Given the description of an element on the screen output the (x, y) to click on. 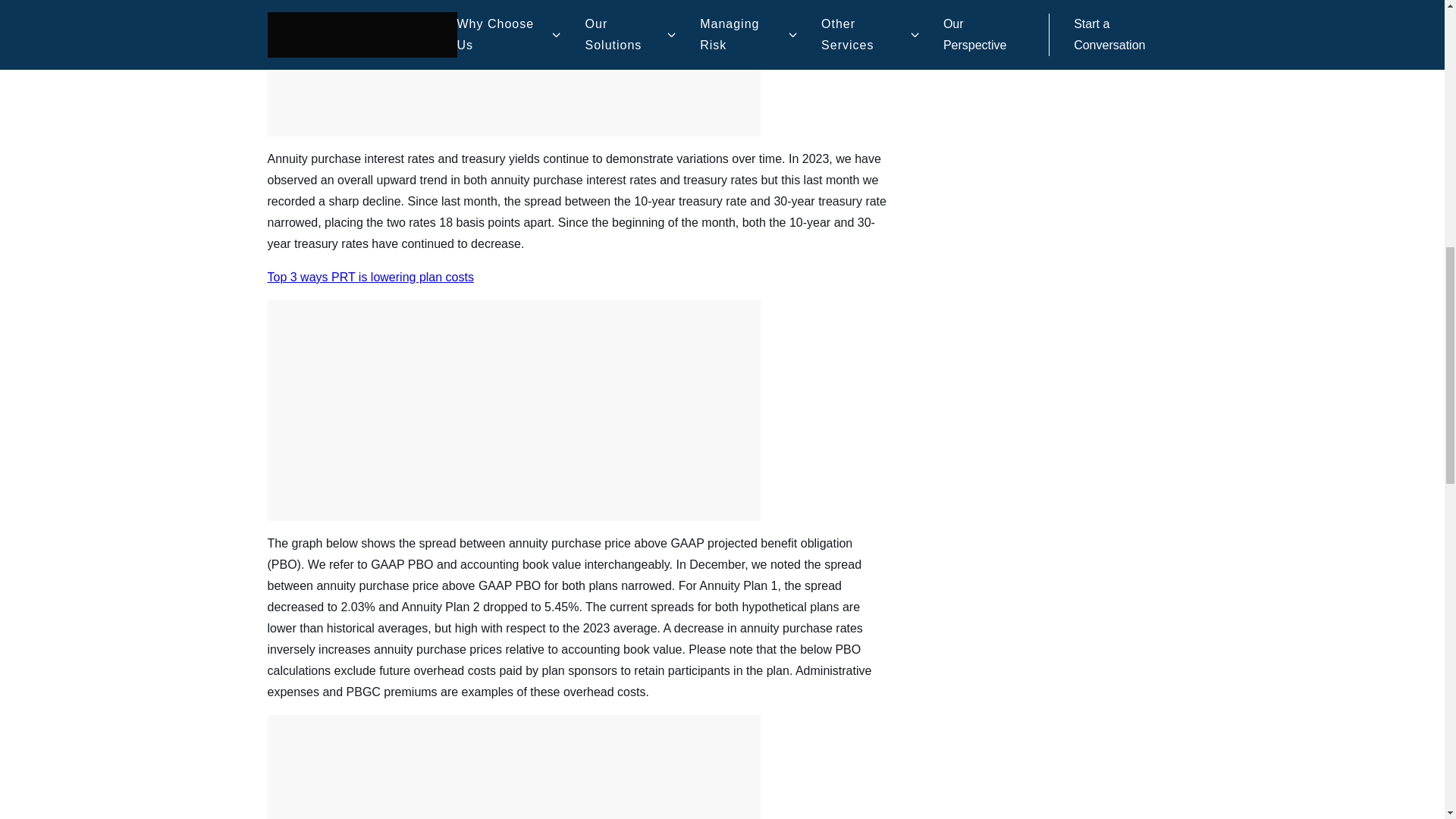
Top 3 ways PRT is lowering plan costs (369, 277)
